Given the description of an element on the screen output the (x, y) to click on. 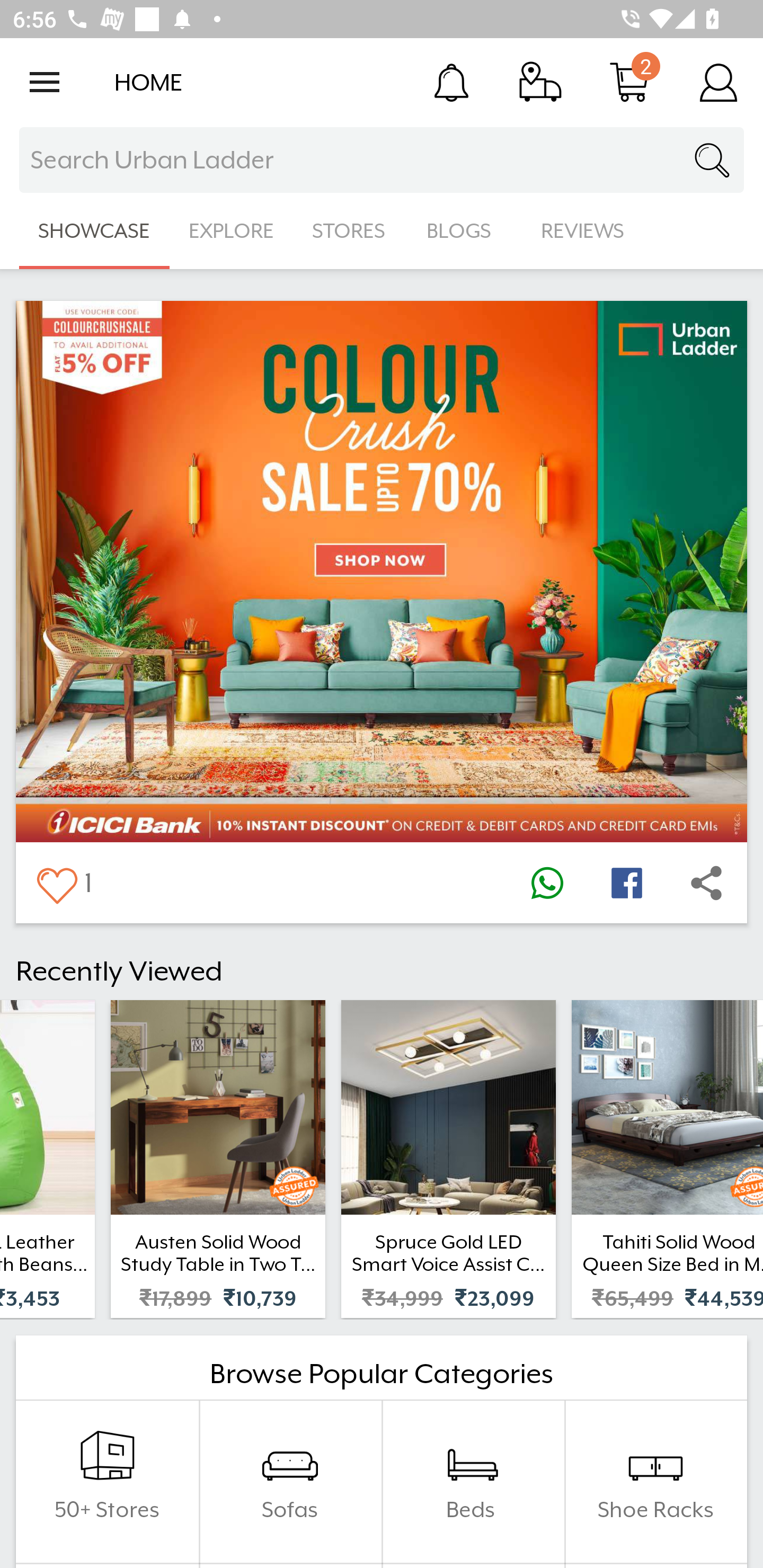
Open navigation drawer (44, 82)
Notification (450, 81)
Track Order (540, 81)
Cart (629, 81)
Account Details (718, 81)
Search Urban Ladder  (381, 159)
SHOWCASE (94, 230)
EXPLORE (230, 230)
STORES (349, 230)
BLOGS (464, 230)
REVIEWS (582, 230)
 (55, 882)
 (547, 882)
 (626, 882)
 (706, 882)
50+ Stores (106, 1481)
Sofas (289, 1481)
Beds  (473, 1481)
Shoe Racks (655, 1481)
